Given the description of an element on the screen output the (x, y) to click on. 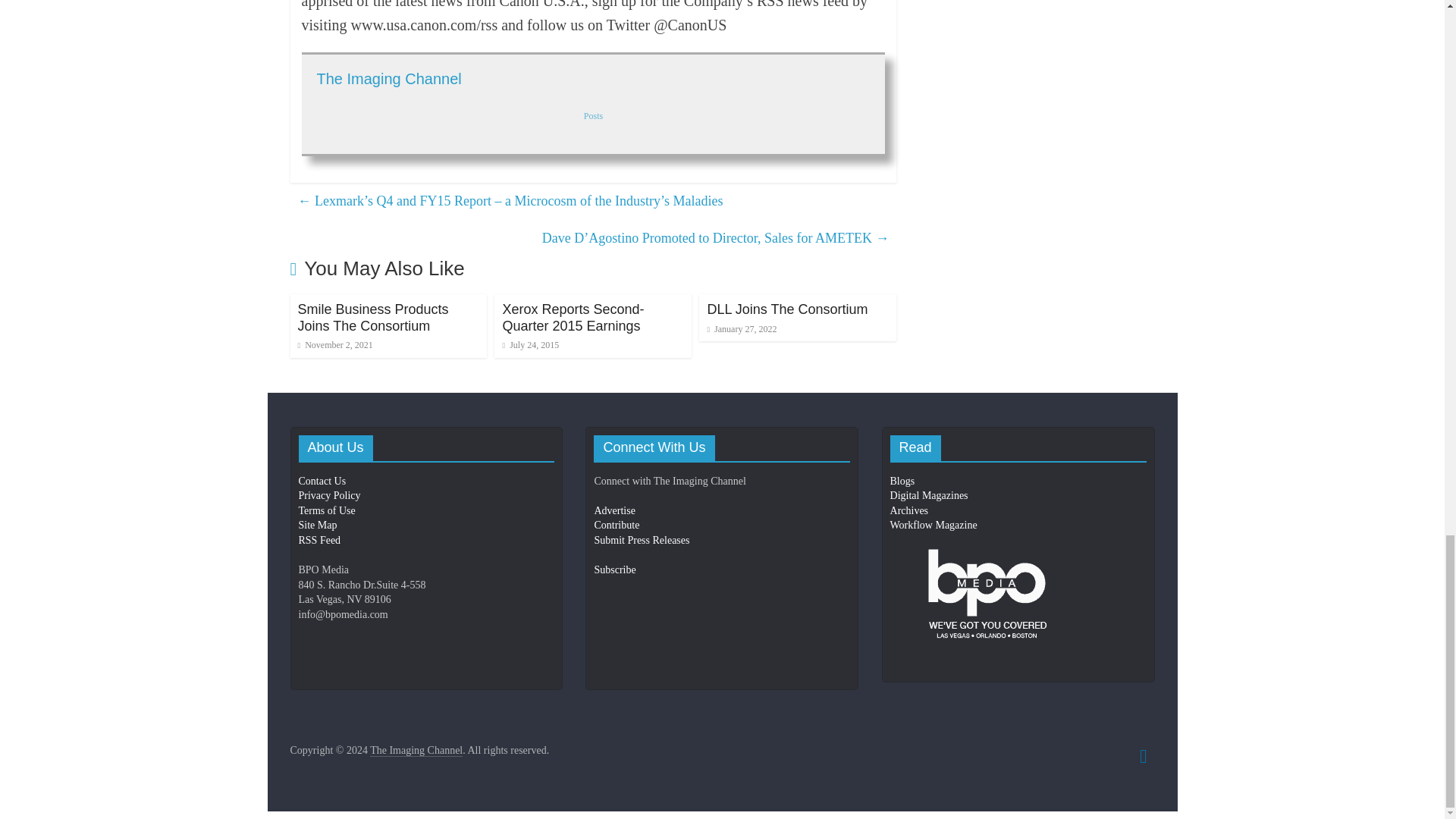
Xerox Reports Second-Quarter 2015 Earnings (572, 317)
Smile Business Products Joins The Consortium (372, 317)
DLL Joins The Consortium (786, 309)
1:31 pm (530, 344)
10:17 am (334, 344)
